Given the description of an element on the screen output the (x, y) to click on. 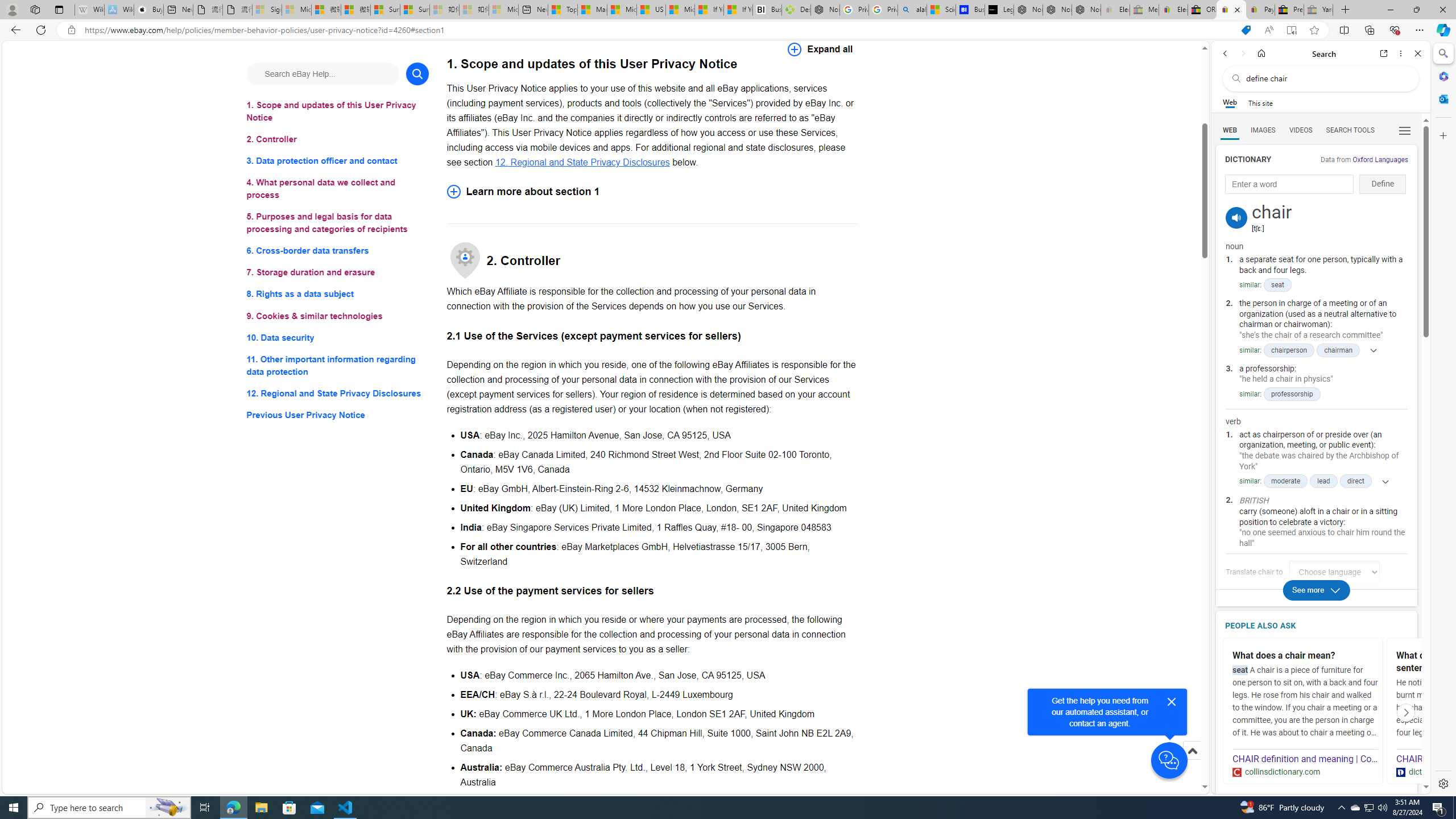
10. Data security (337, 336)
Click to scroll right (1405, 711)
